Given the description of an element on the screen output the (x, y) to click on. 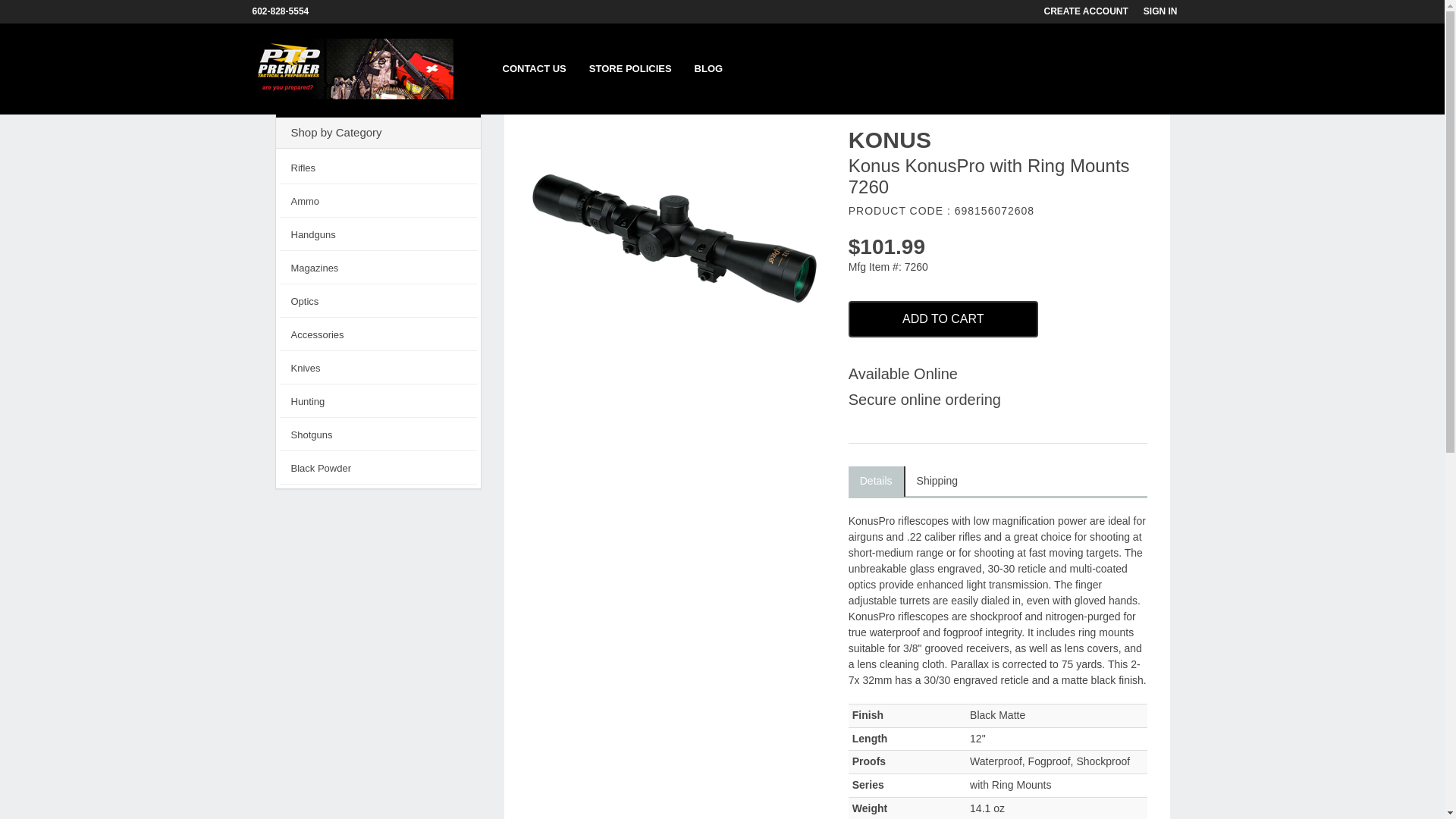
SIGN IN (1167, 11)
602-828-5554 (287, 11)
CREATE ACCOUNT (1092, 11)
STORE POLICIES (630, 68)
CONTACT US (535, 68)
